Given the description of an element on the screen output the (x, y) to click on. 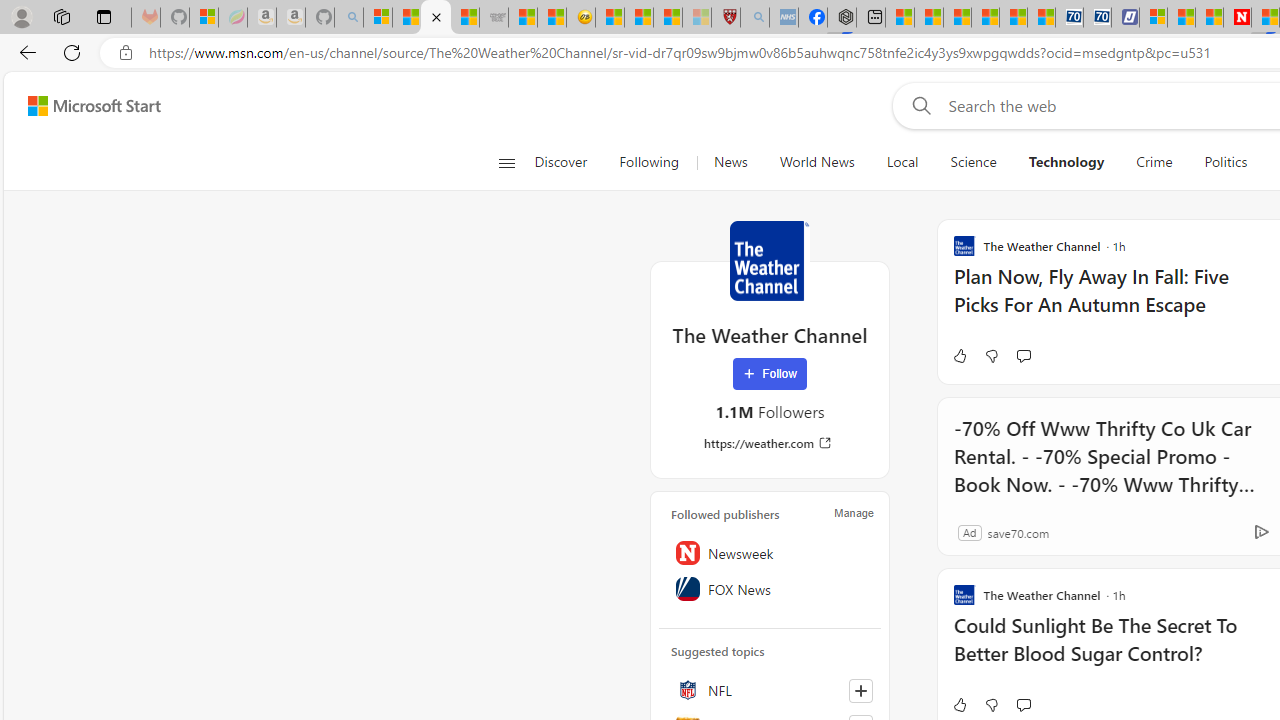
Newsweek (770, 552)
save70.com (1017, 532)
Could Sunlight Be The Secret To Better Blood Sugar Control? (1115, 650)
https://weather.com (769, 443)
